Given the description of an element on the screen output the (x, y) to click on. 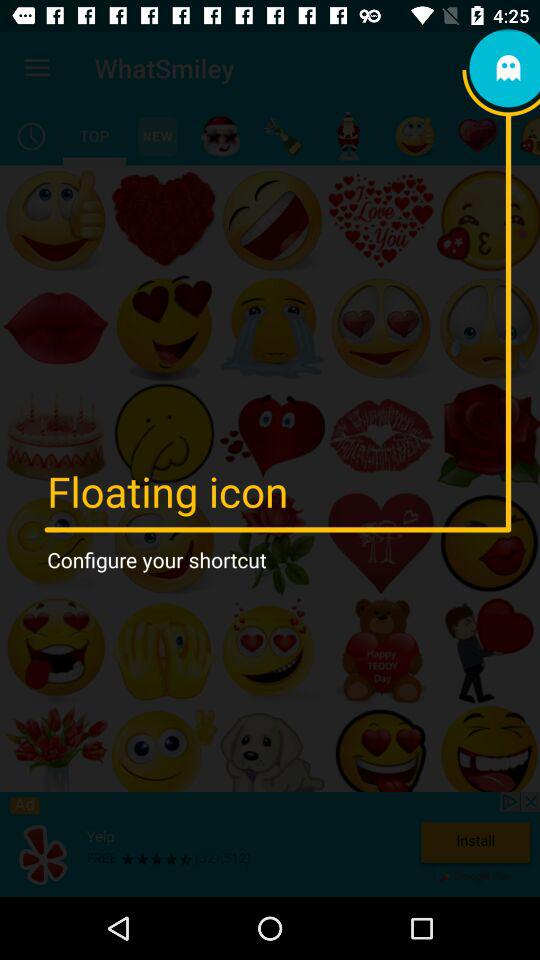
selection (94, 136)
